Given the description of an element on the screen output the (x, y) to click on. 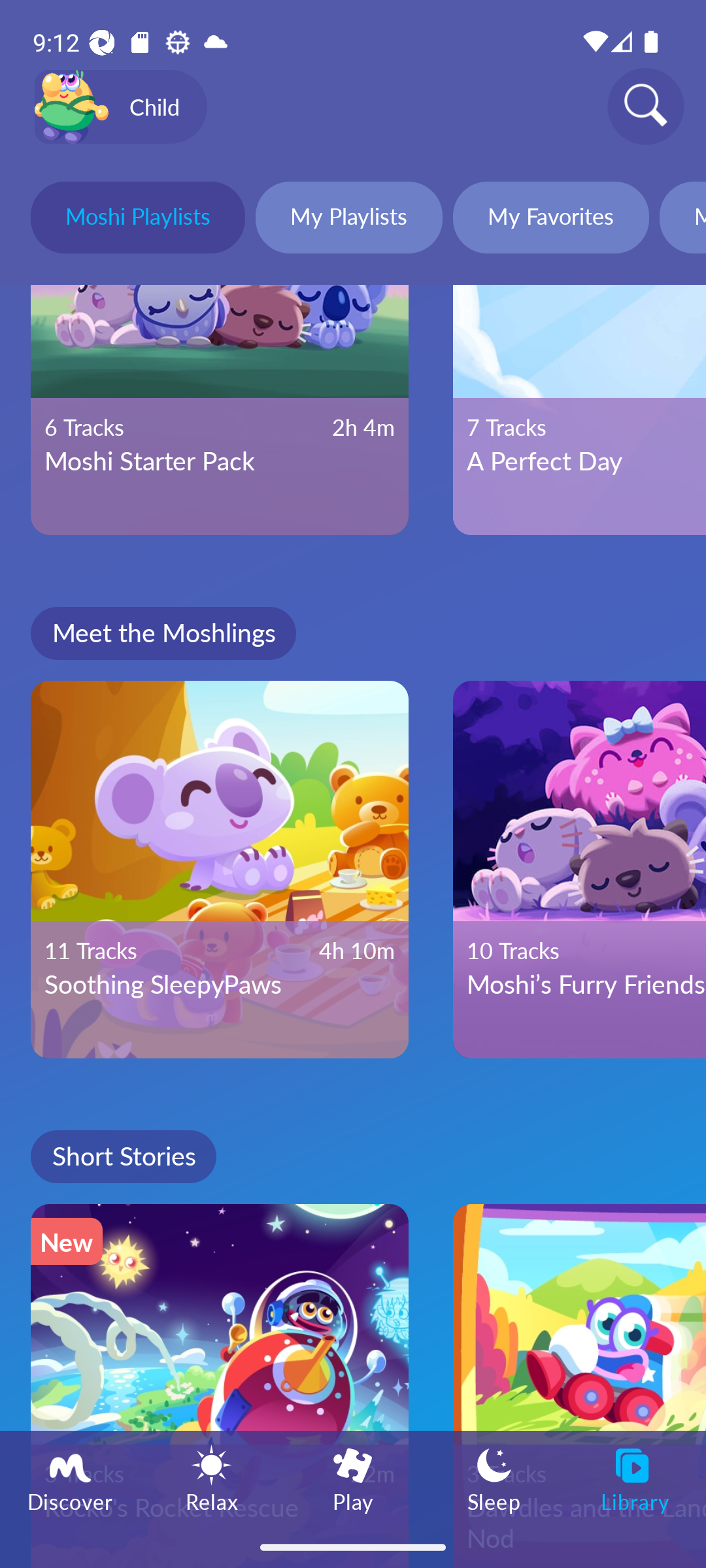
Profile icon Child (120, 107)
Moshi Playlists (137, 219)
My Playlists (348, 219)
My Favorites (550, 219)
Featured Content 6 Tracks Moshi Starter Pack 2h 4m (219, 409)
Featured Content 7 Tracks A Perfect Day (579, 409)
Featured Content 10 Tracks Moshi’s Furry Friends (579, 869)
Discover (70, 1478)
Relax (211, 1478)
Play (352, 1478)
Sleep (493, 1478)
